Given the description of an element on the screen output the (x, y) to click on. 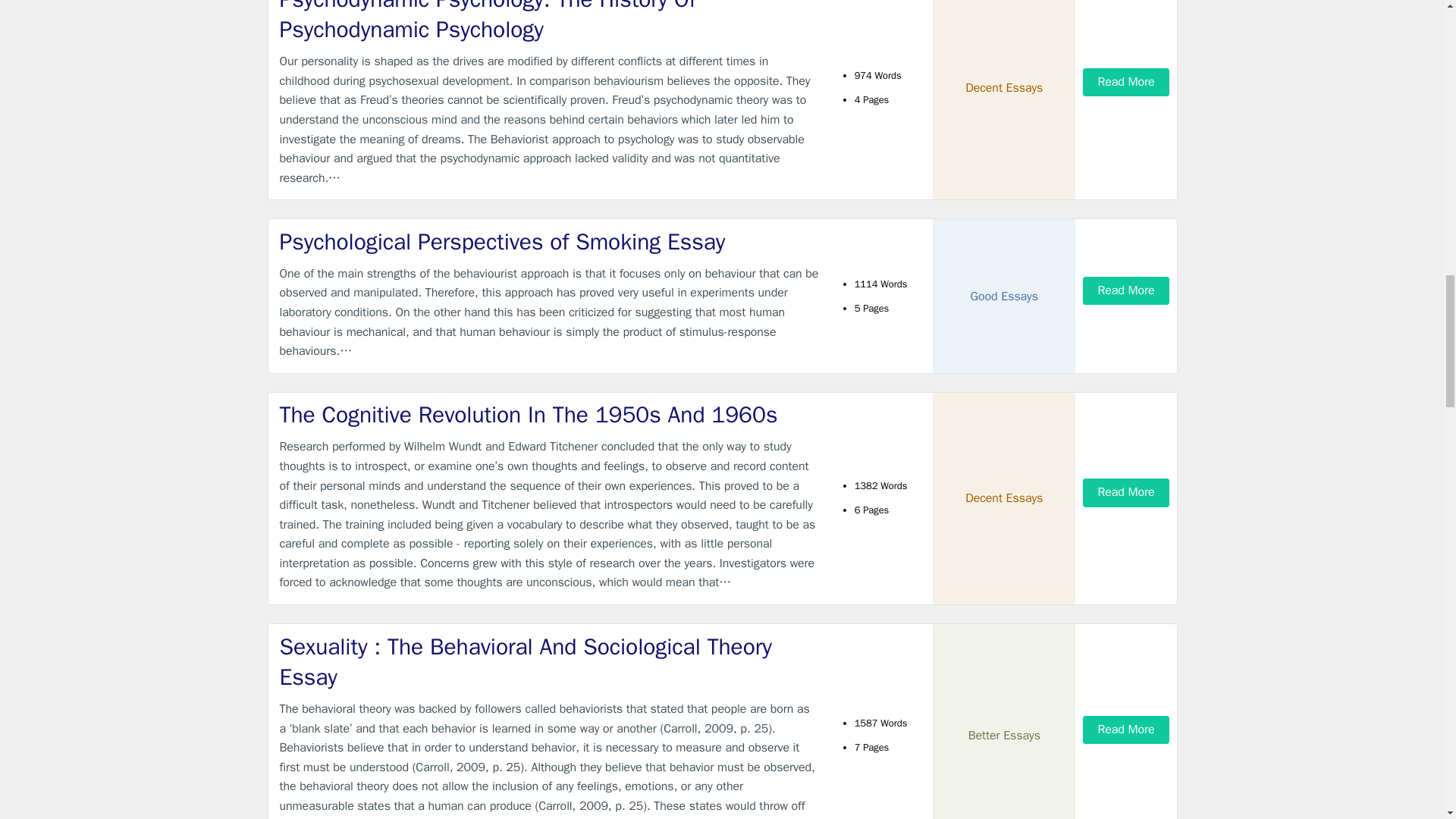
Read More (1126, 492)
Sexuality : The Behavioral And Sociological Theory Essay (548, 661)
The Cognitive Revolution In The 1950s And 1960s (548, 414)
Read More (1126, 290)
Read More (1126, 729)
Psychological Perspectives of Smoking Essay (548, 241)
Read More (1126, 81)
